Given the description of an element on the screen output the (x, y) to click on. 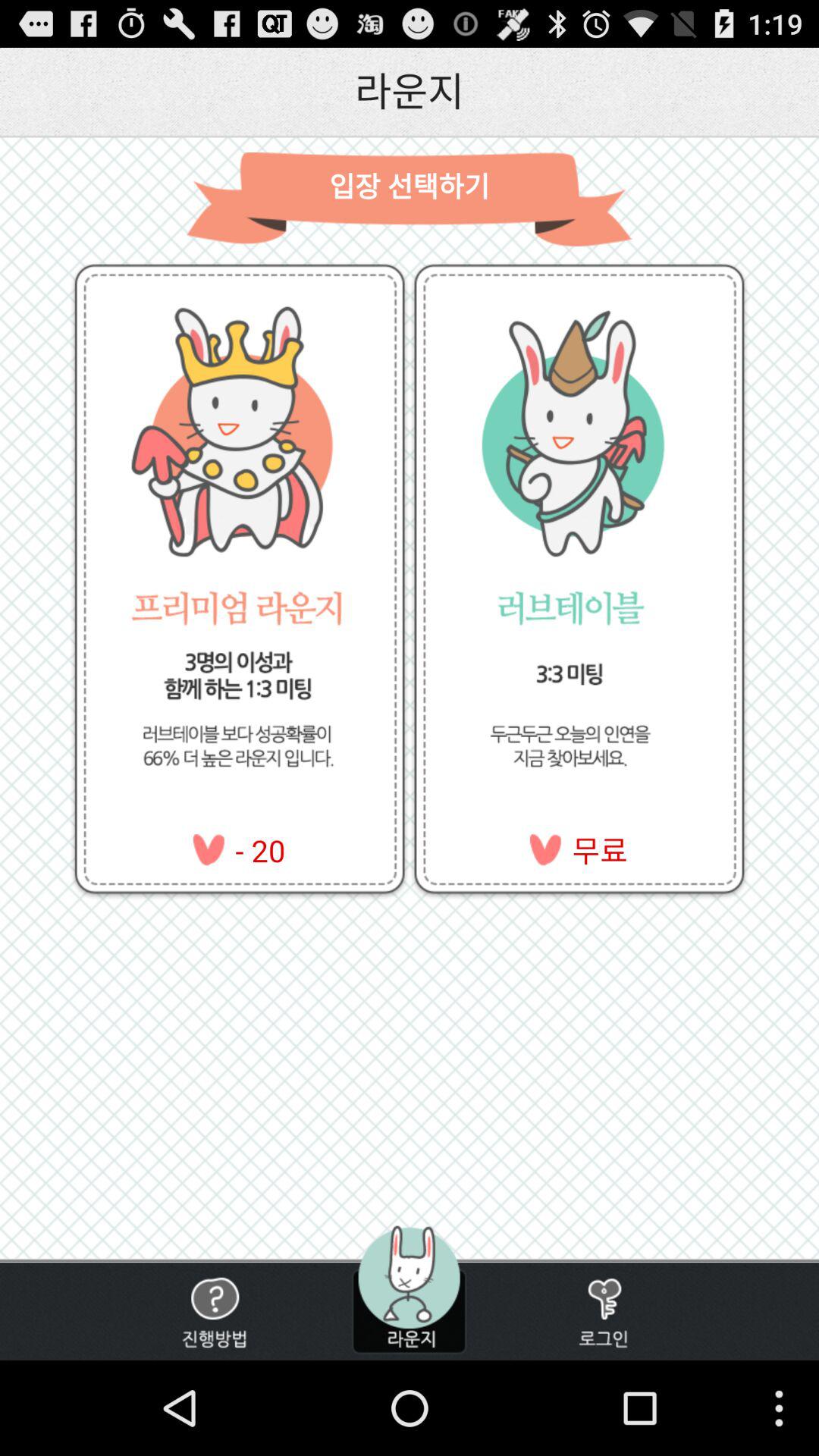
menu icon (408, 1289)
